Given the description of an element on the screen output the (x, y) to click on. 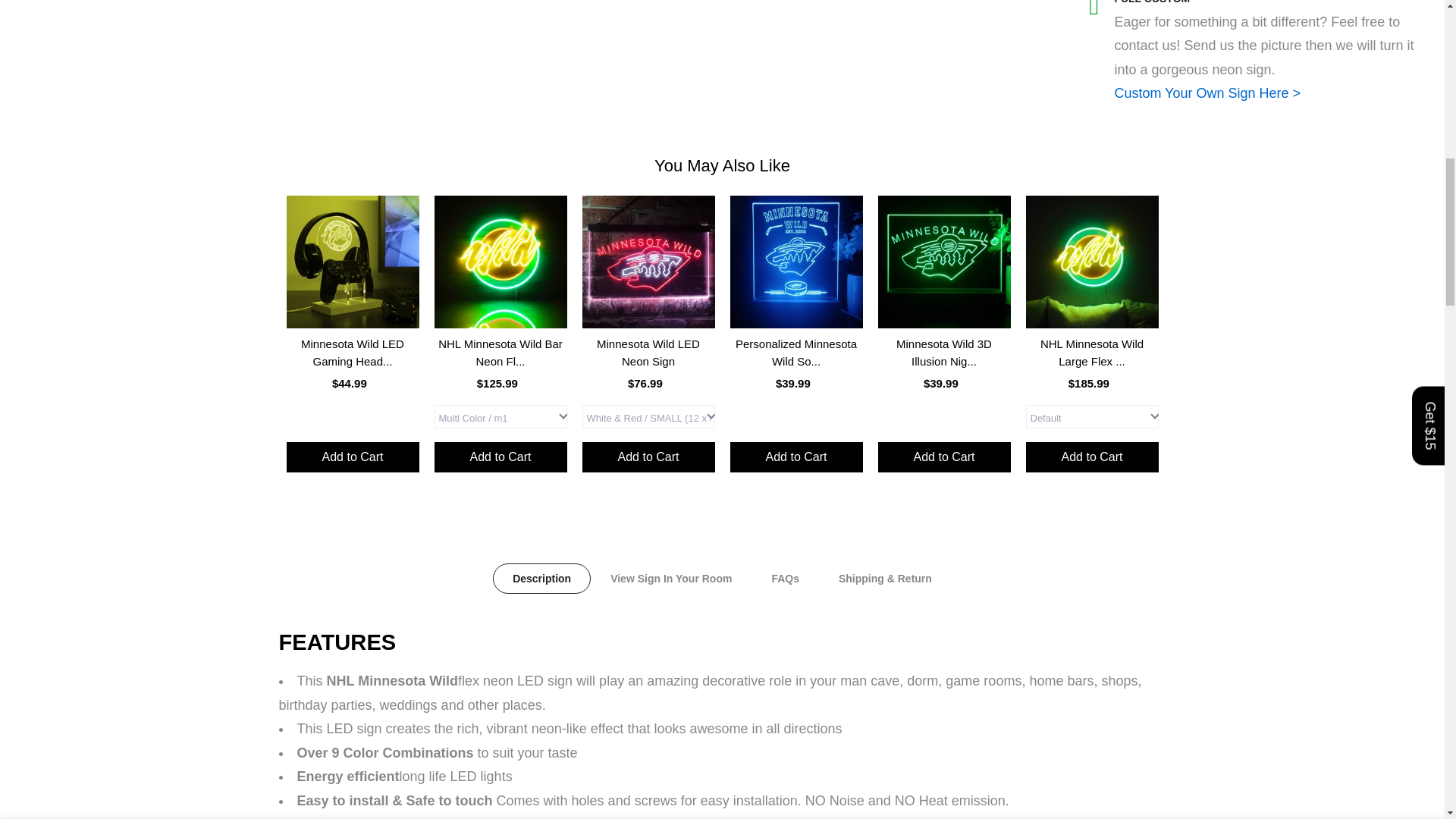
NHL Minnesota Wild Bar Neon Flex LED Sign (499, 366)
NHL Minnesota Wild Large Flex Neon LED Sign (1091, 366)
1 (1001, 35)
NHL Minnesota Wild Bar Neon Flex LED Sign (499, 261)
Minnesota Wild LED Neon Sign (648, 366)
Minnesota Wild LED Gaming Headset Controller Stand (352, 366)
Minnesota Wild 3D Illusion Night Light Desk Lamp (943, 366)
